Given the description of an element on the screen output the (x, y) to click on. 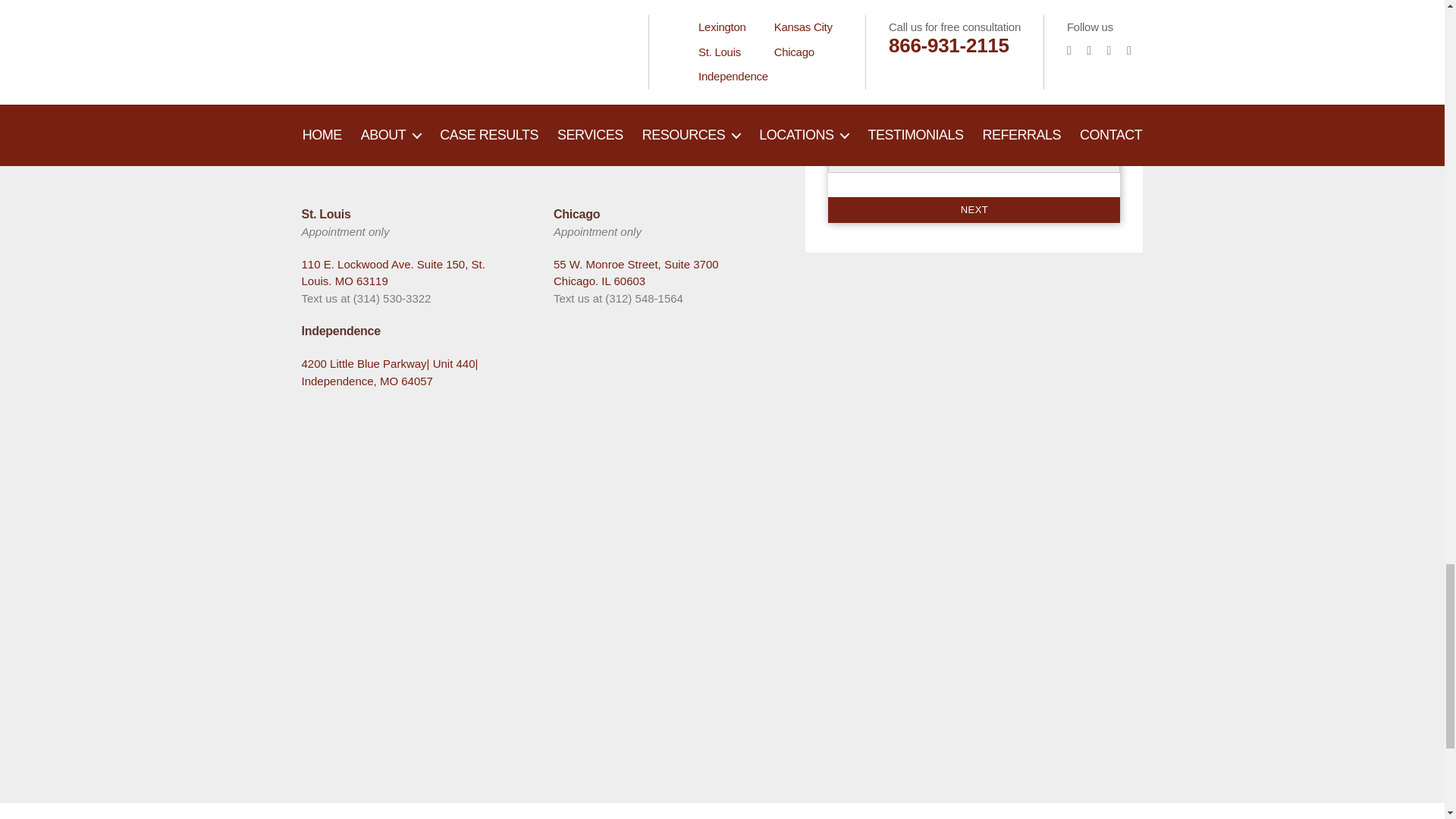
Next (973, 209)
